Given the description of an element on the screen output the (x, y) to click on. 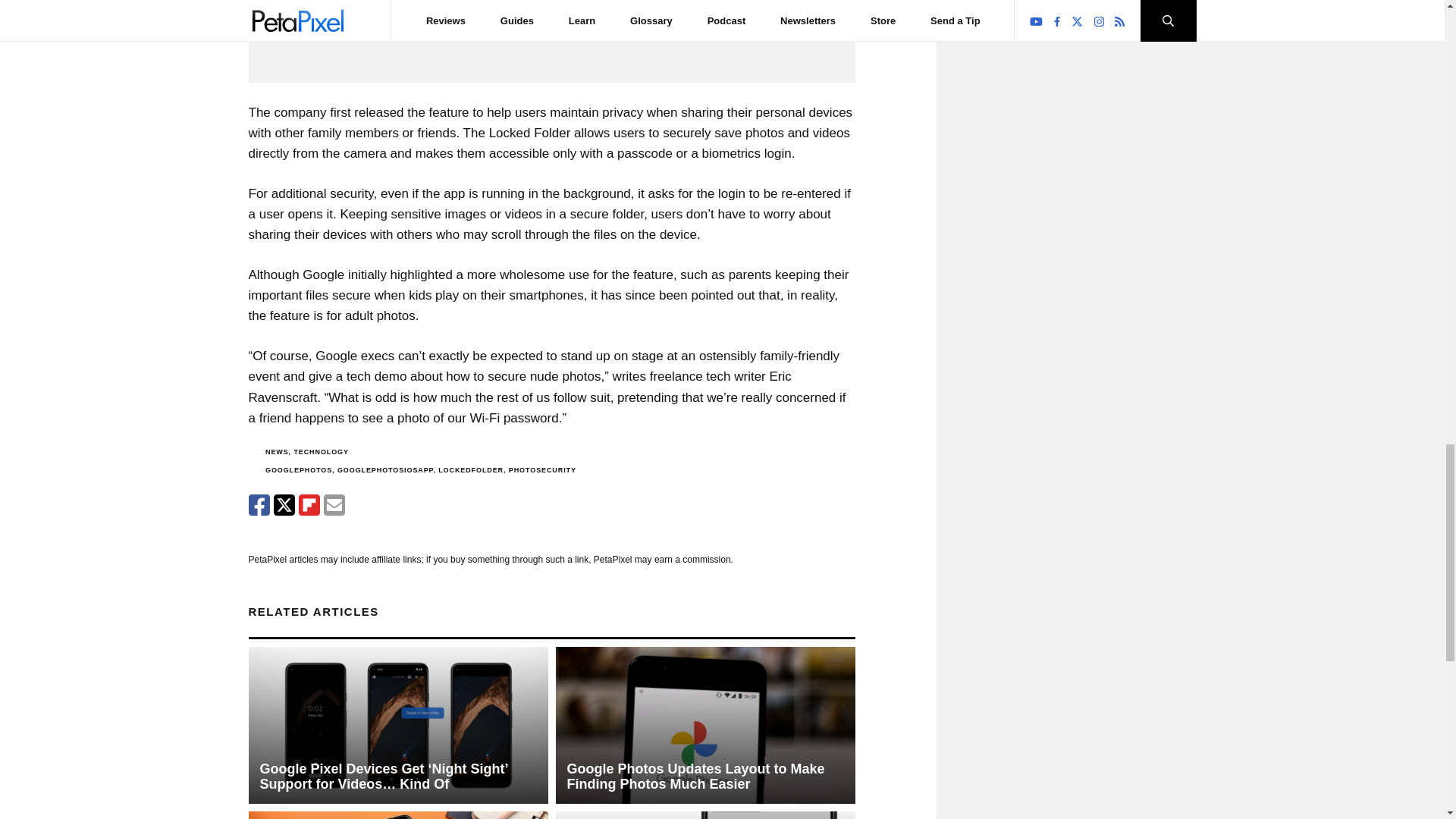
LOCKEDFOLDER (470, 470)
PHOTOSECURITY (542, 470)
Email this article (333, 504)
Share on X (283, 504)
Share on facebook (258, 504)
TECHNOLOGY (321, 451)
Share on Flipboard (309, 504)
GOOGLEPHOTOS (297, 470)
GOOGLEPHOTOSIOSAPP (384, 470)
NEWS (276, 451)
